Given the description of an element on the screen output the (x, y) to click on. 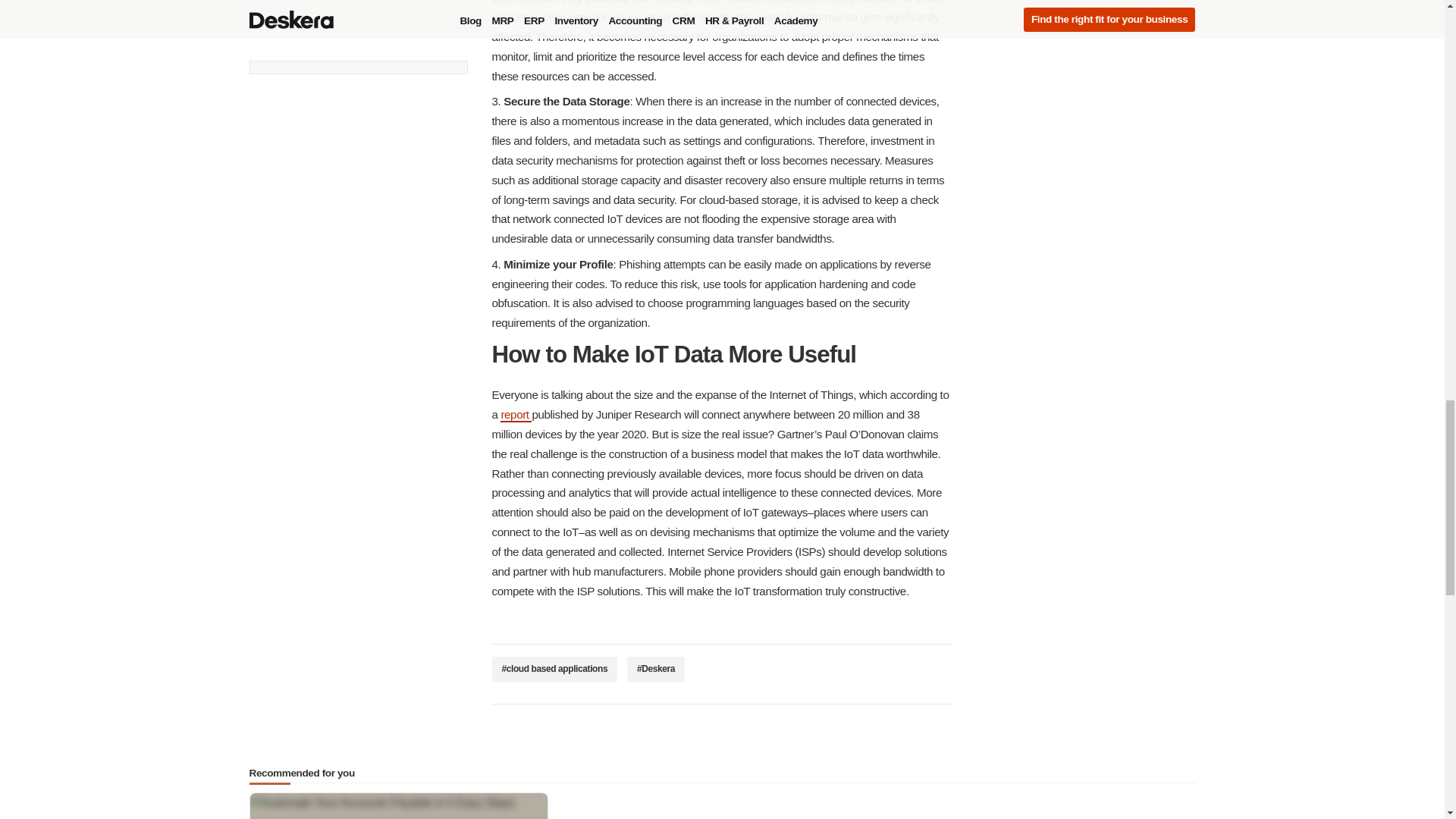
Automate Your Accounts Payable in 5 Easy Steps (399, 806)
Deskera (655, 668)
report (515, 414)
cloud based applications (554, 668)
